Given the description of an element on the screen output the (x, y) to click on. 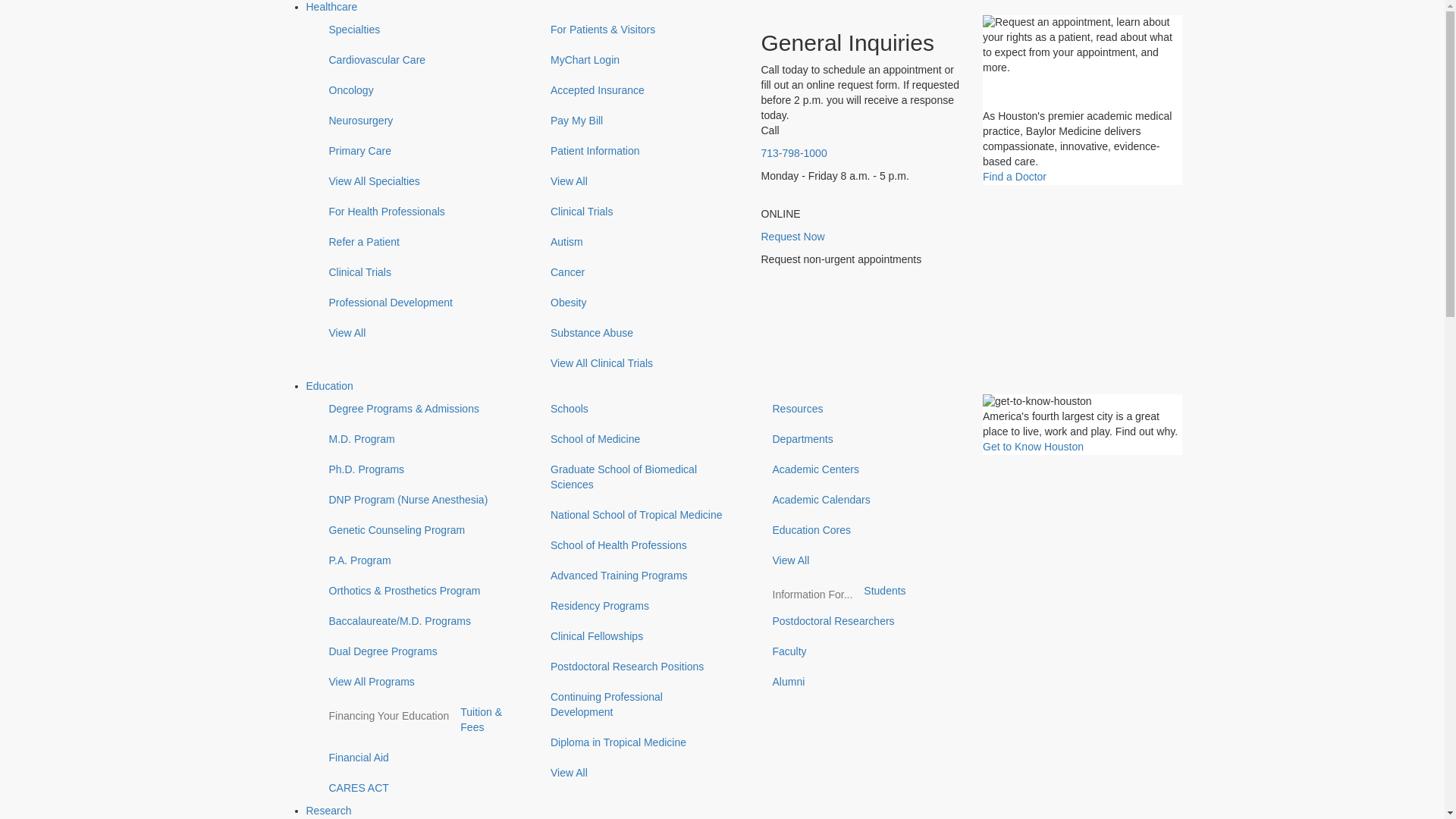
Specialties (416, 30)
MyChart Login (638, 60)
Dual Degree Programs (416, 652)
Request Now (793, 236)
View All Programs (416, 682)
For Health Professionals (416, 212)
View All (638, 182)
Baylor College of Medicine (364, 110)
Primary Care (416, 151)
Education (329, 386)
